Given the description of an element on the screen output the (x, y) to click on. 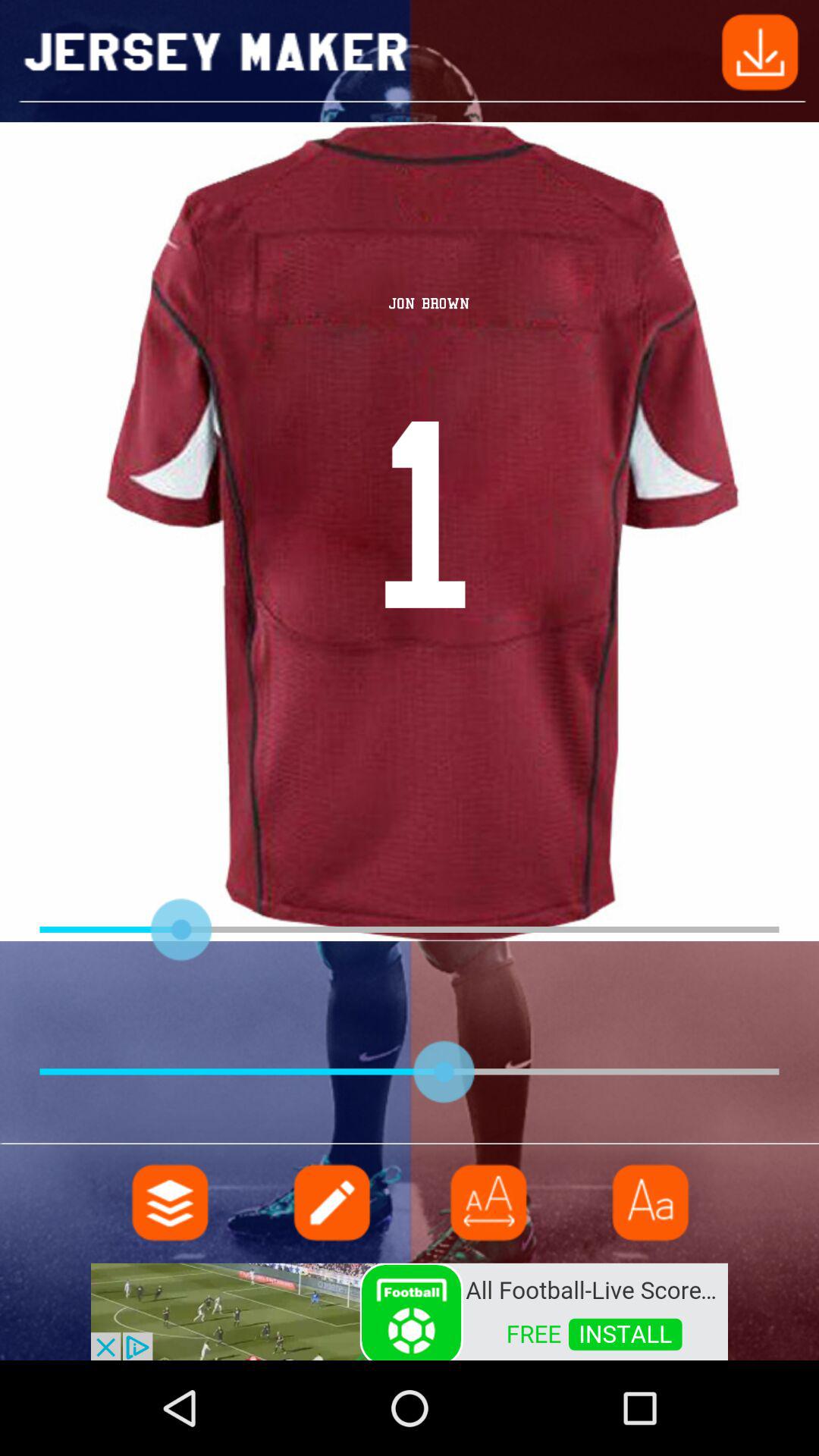
download (759, 50)
